Given the description of an element on the screen output the (x, y) to click on. 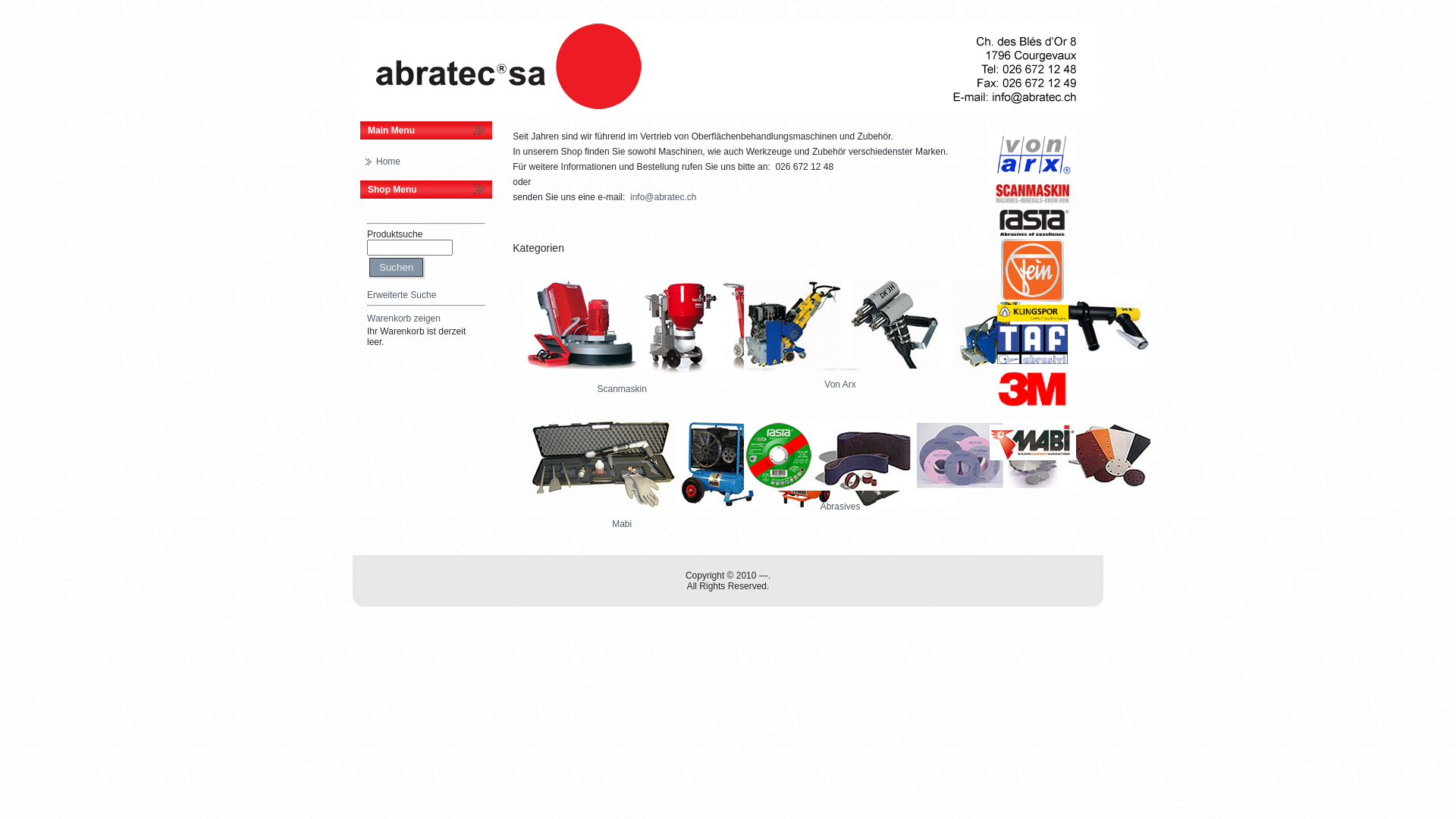
Scanmaskin Element type: text (728, 379)
Von Arx Element type: text (946, 374)
Suchen Element type: text (396, 267)
Suchen Element type: hover (409, 247)
Erweiterte Suche Element type: text (401, 294)
Warenkorb zeigen Element type: text (403, 318)
Abrasives Element type: text (946, 496)
Mabi Element type: text (740, 514)
Home Element type: text (388, 161)
info@abratec.ch Element type: text (663, 196)
